Given the description of an element on the screen output the (x, y) to click on. 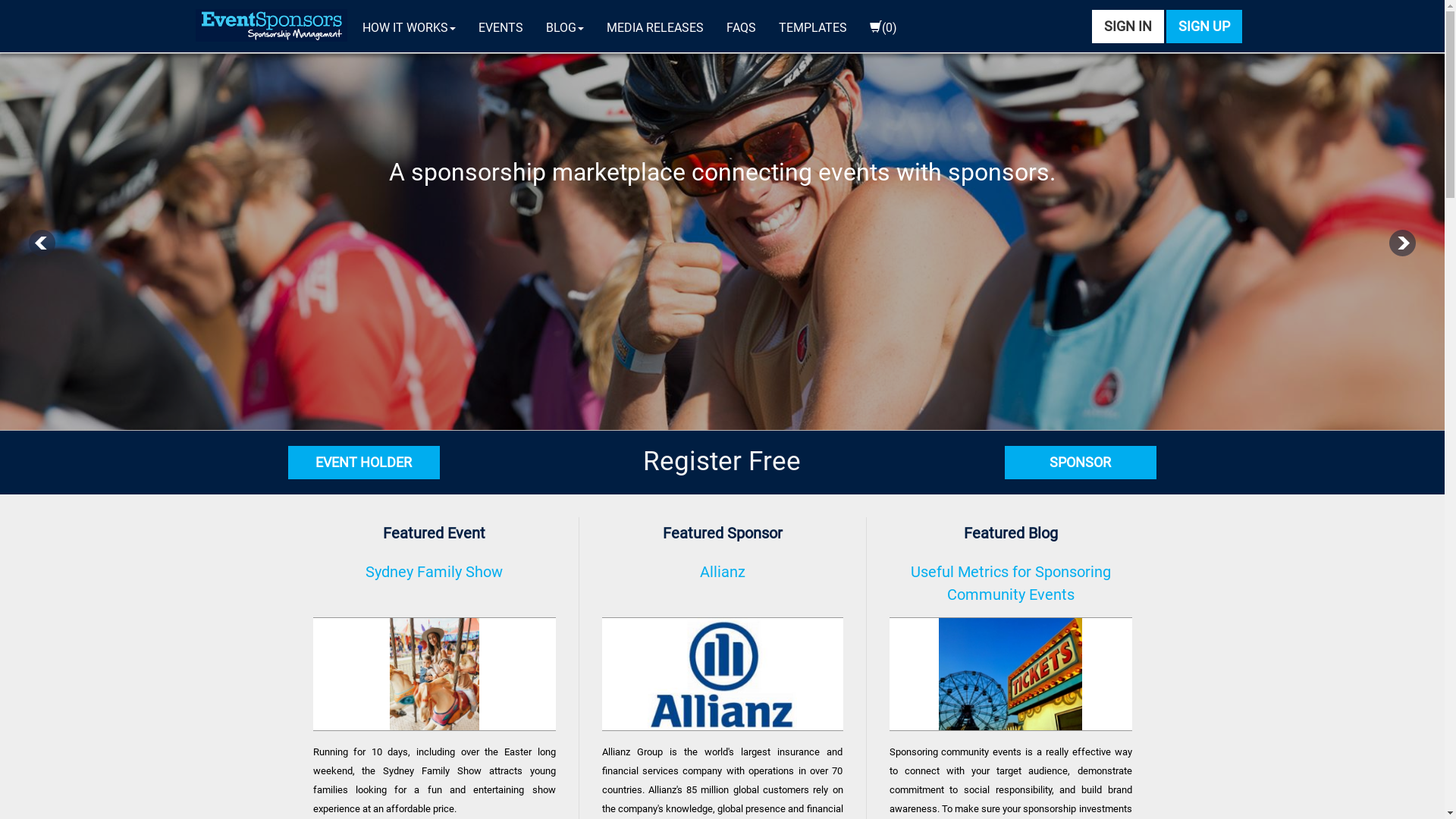
SIGN IN Element type: text (1128, 26)
SIGN UP Element type: text (1204, 26)
EVENT HOLDER Element type: text (363, 462)
(0) Element type: text (883, 28)
Allianz Element type: text (722, 579)
Sydney Family Show Element type: text (433, 579)
Register Free Element type: text (721, 461)
FAQS Element type: text (740, 28)
SPONSOR Element type: text (1080, 462)
Useful Metrics for Sponsoring Community Events Element type: text (1009, 579)
MEDIA RELEASES Element type: text (654, 28)
EVENTS Element type: text (500, 28)
TEMPLATES Element type: text (812, 28)
BLOG Element type: text (563, 28)
HOW IT WORKS Element type: text (408, 28)
